Given the description of an element on the screen output the (x, y) to click on. 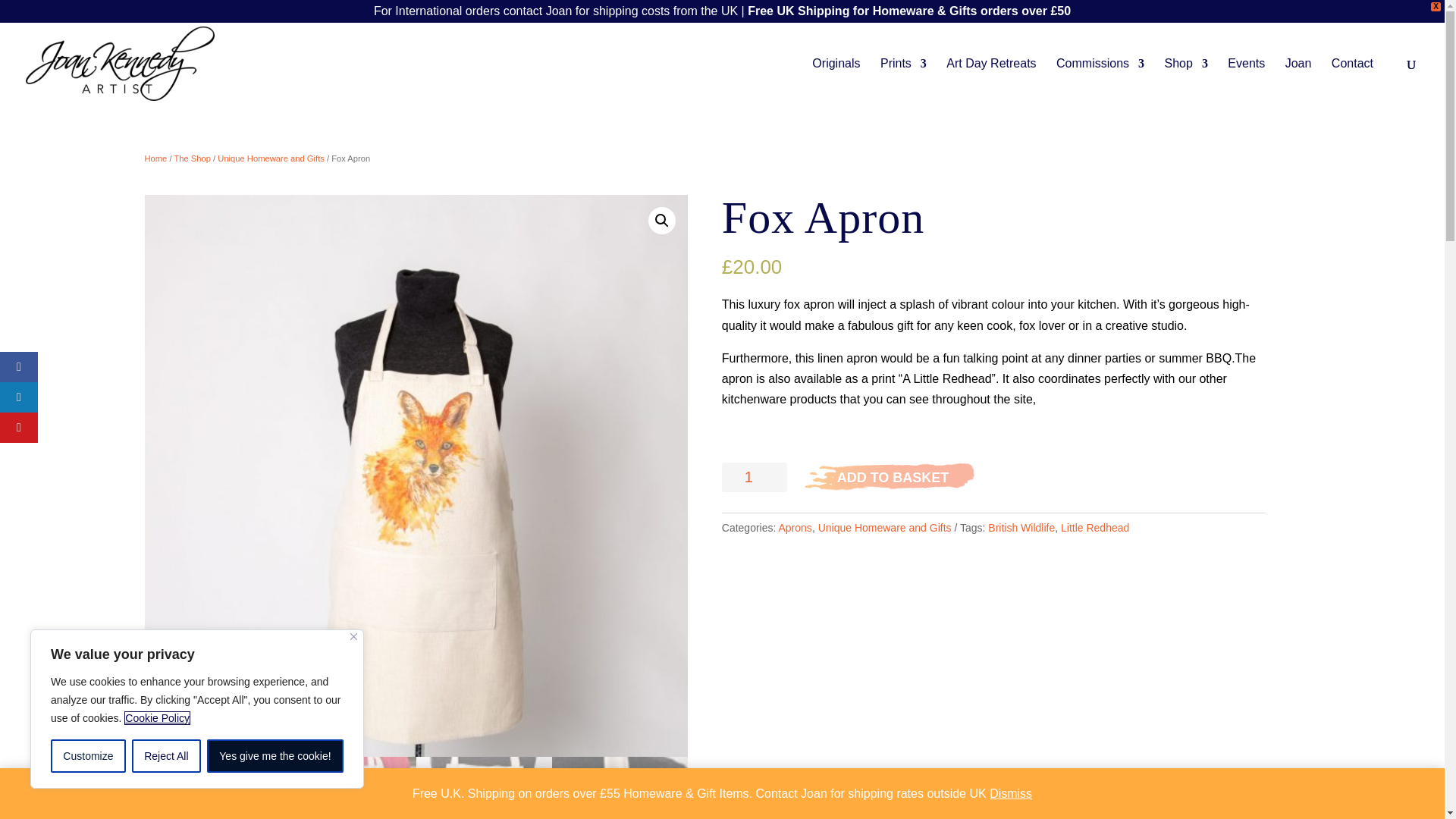
Yes give me the cookie! (274, 756)
Customize (87, 756)
Originals (836, 81)
Prints (903, 81)
1 (754, 477)
Commissions (1100, 81)
Art Day Retreats (990, 81)
Contact (1352, 81)
Reject All (166, 756)
Cookie Policy (156, 717)
Shop (1186, 81)
